Given the description of an element on the screen output the (x, y) to click on. 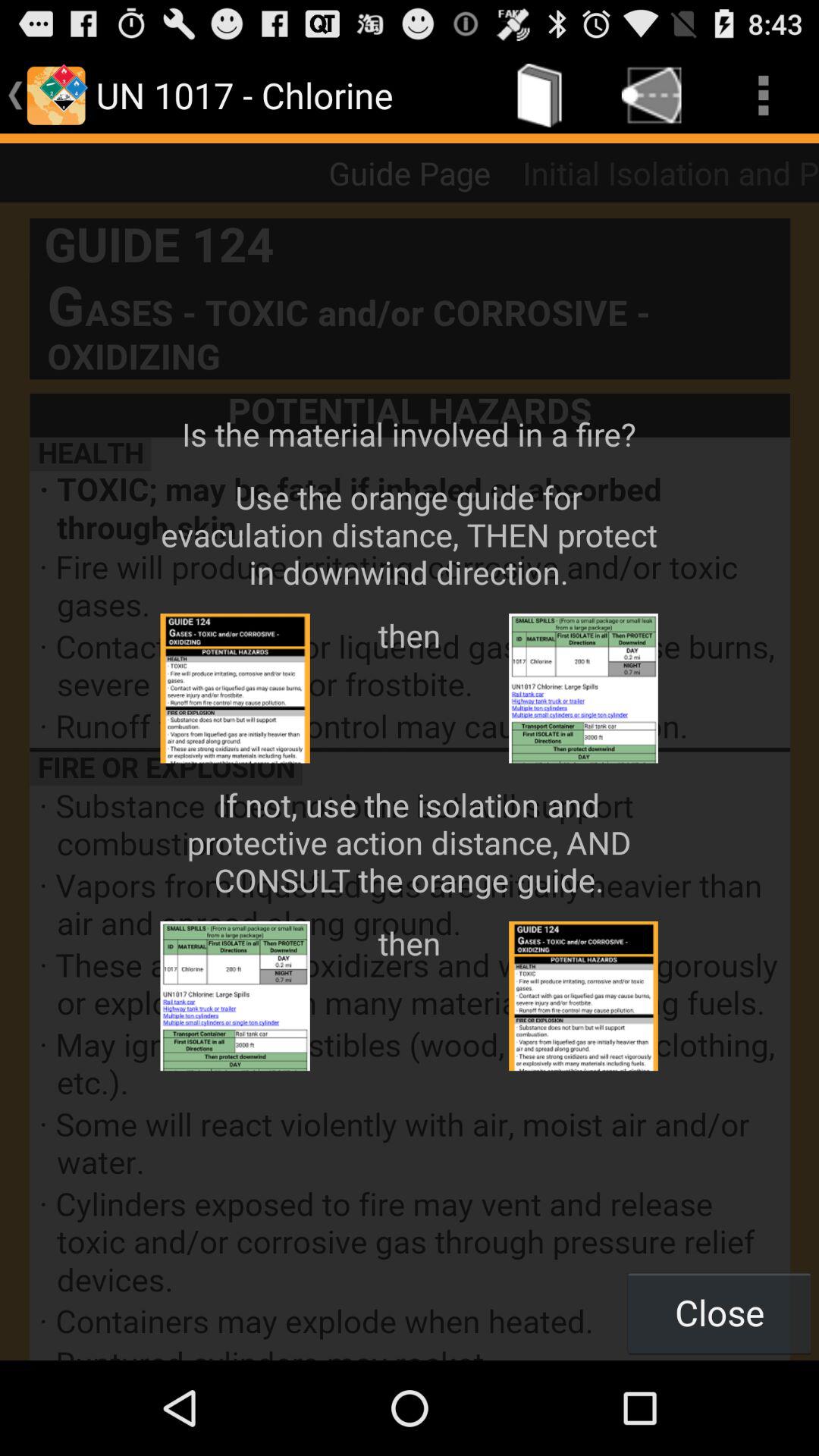
click on the second left image from (235, 995)
click the three dots button on the top right corner of the web page (763, 95)
click the icon at to left (55, 95)
